Given the description of an element on the screen output the (x, y) to click on. 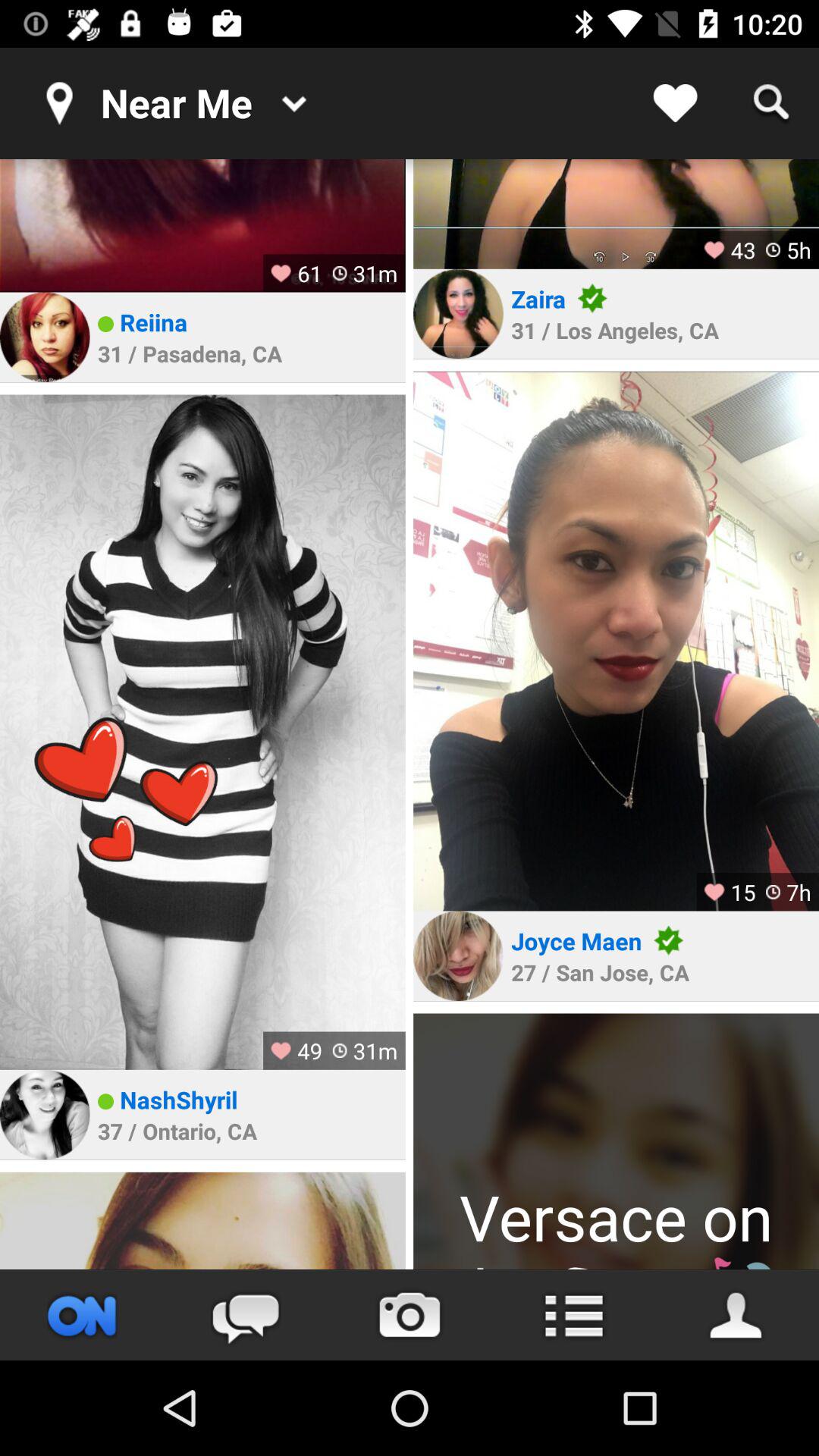
profile picture to go to person 's profile (458, 956)
